Given the description of an element on the screen output the (x, y) to click on. 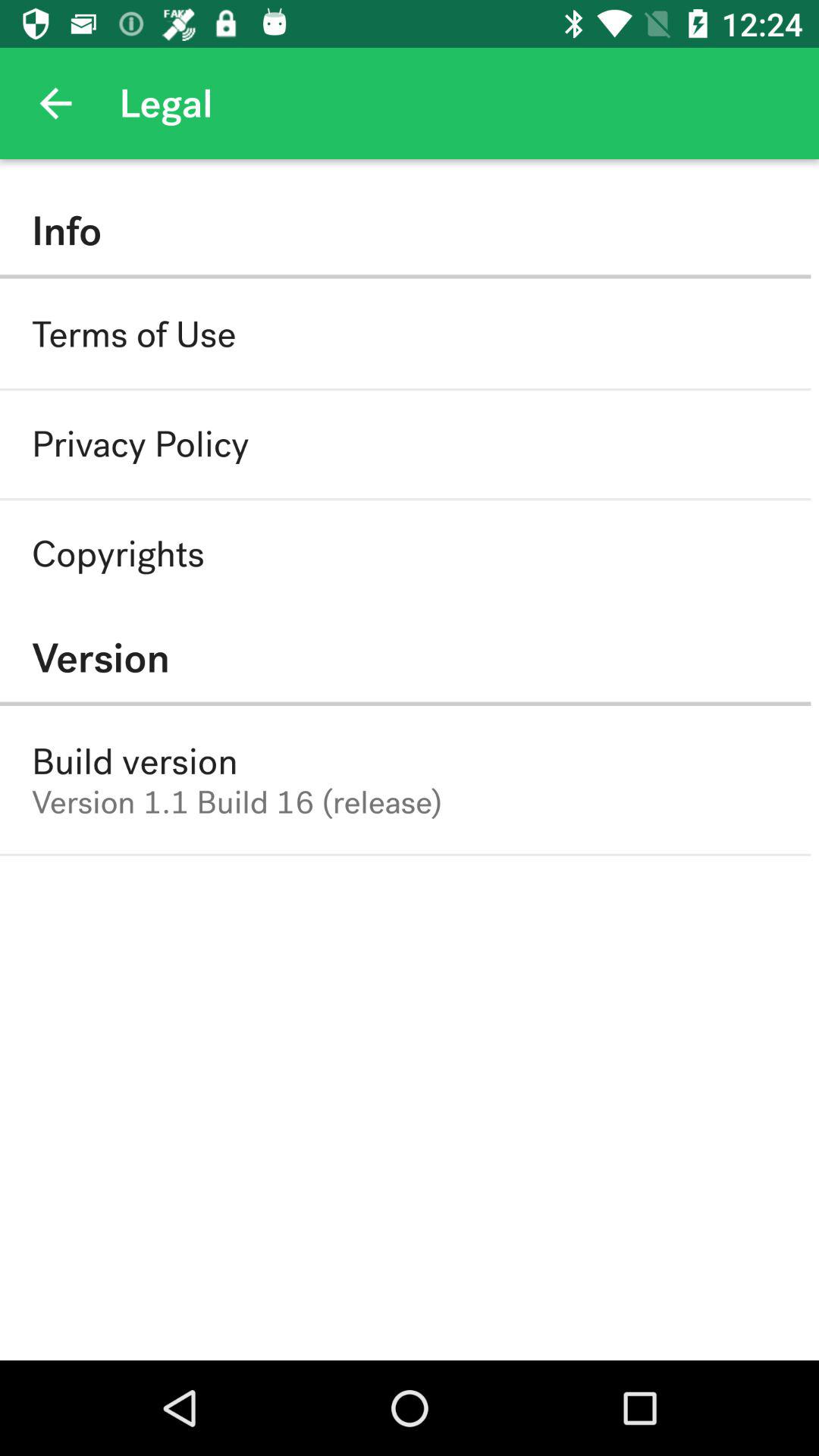
click the icon above info (55, 103)
